Given the description of an element on the screen output the (x, y) to click on. 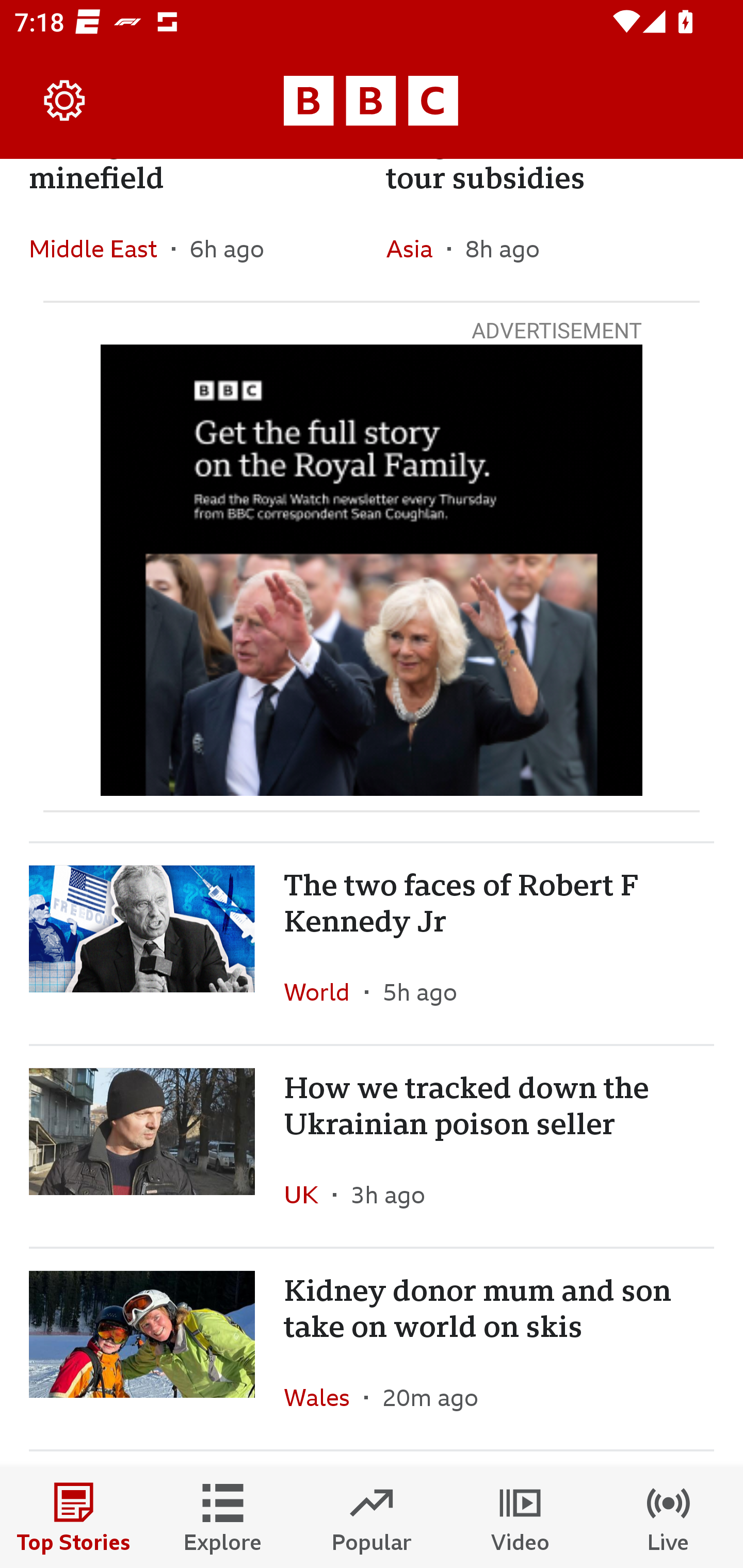
Settings (64, 100)
Middle East In the section Middle East (99, 248)
Asia In the section Asia (416, 248)
World In the section World (323, 991)
UK In the section UK (307, 1194)
Wales In the section Wales (323, 1396)
Explore (222, 1517)
Popular (371, 1517)
Video (519, 1517)
Live (668, 1517)
